Given the description of an element on the screen output the (x, y) to click on. 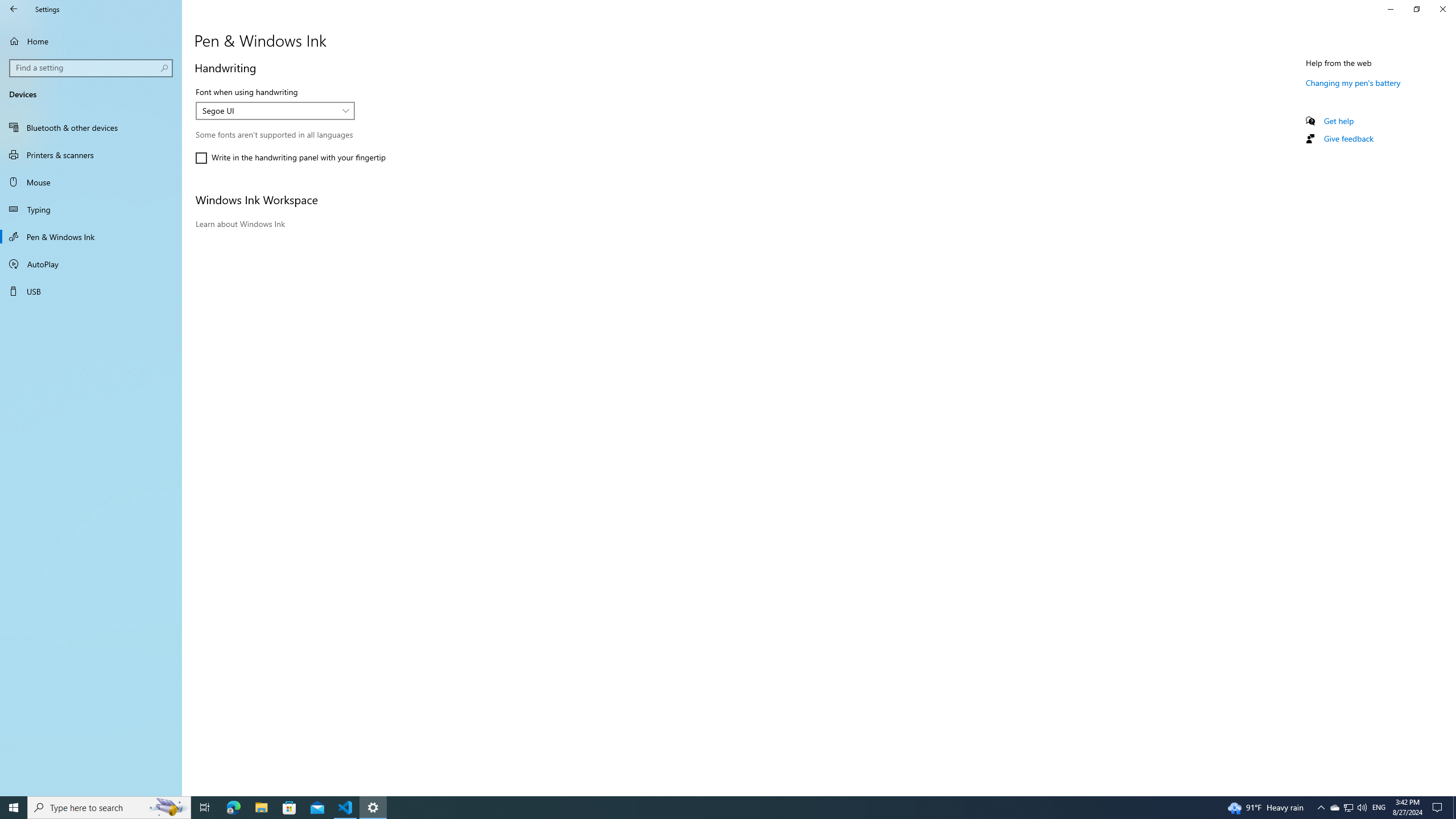
Mouse (91, 181)
Bluetooth & other devices (91, 126)
Font when using handwriting (275, 110)
